Given the description of an element on the screen output the (x, y) to click on. 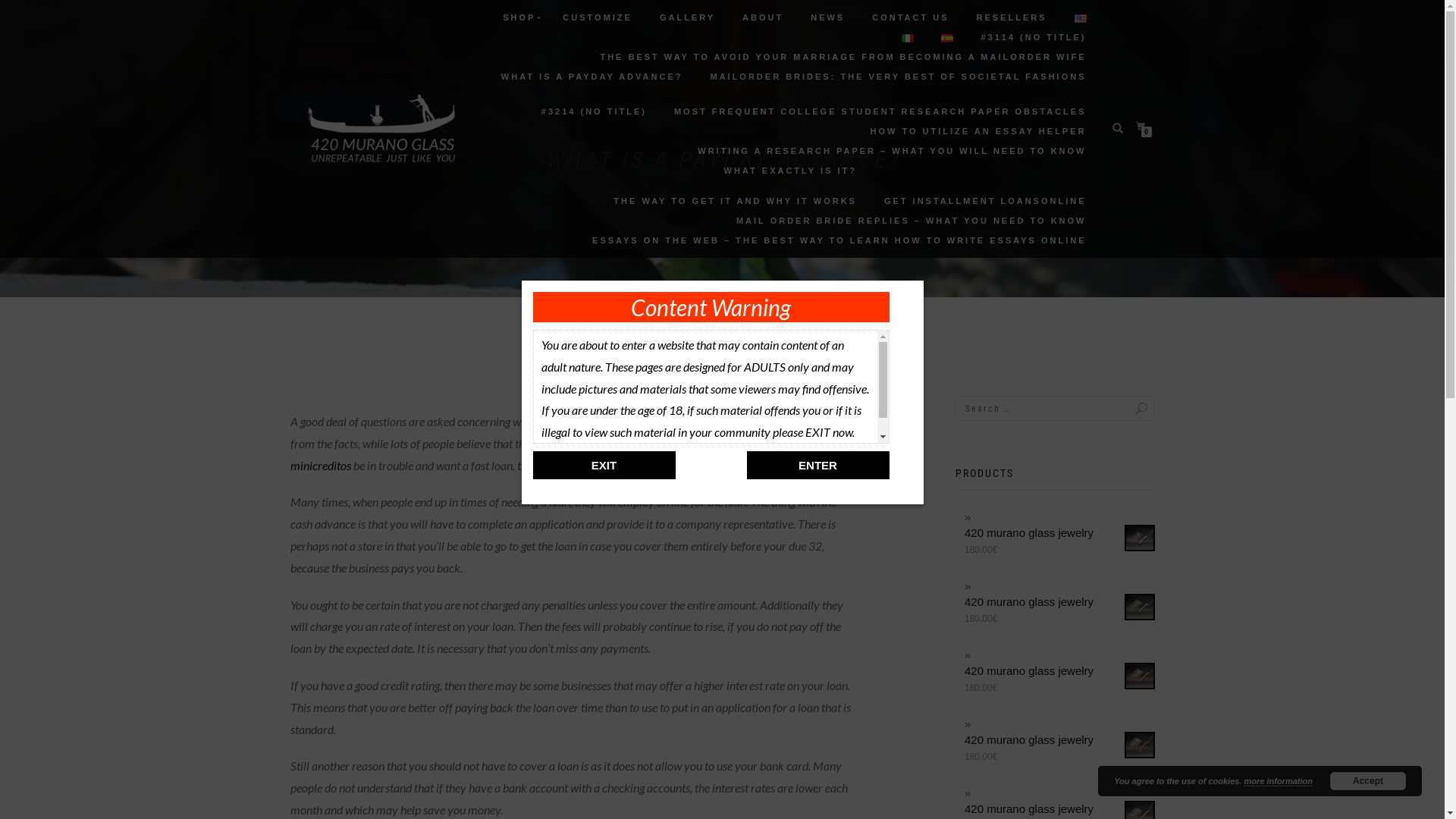
CONTACT US Element type: text (910, 17)
MOST FREQUENT COLLEGE STUDENT RESEARCH PAPER OBSTACLES Element type: text (880, 111)
EXIT Element type: text (603, 465)
Search Element type: text (1126, 407)
GALLERY Element type: text (687, 17)
CUSTOMIZE Element type: text (597, 17)
420 murano glass jewelry Element type: text (1059, 808)
ENTER Element type: text (817, 465)
HOW TO UTILIZE AN ESSAY HELPER Element type: text (978, 131)
WHAT EXACTLY IS IT?
THE WAY TO GET IT AND WHY IT WORKS Element type: text (735, 185)
ABOUT Element type: text (762, 17)
#3114 (NO TITLE) Element type: text (1033, 37)
420 murano glass jewelry Element type: text (1059, 532)
MAILORDER BRIDES: THE VERY BEST OF SOCIETAL FASHIONS Element type: text (897, 76)
#3214 (NO TITLE) Element type: text (594, 111)
pedir minicreditos Element type: text (566, 454)
GET INSTALLMENT LOANSONLINE Element type: text (985, 200)
SHOP Element type: text (518, 17)
WHAT IS A PAYDAY ADVANCE? Element type: text (591, 83)
Italiano (it_IT) Element type: hover (907, 38)
0 Element type: text (1143, 126)
420 murano glass jewelry Element type: text (1059, 601)
more information Element type: text (1277, 781)
420 murano glass jewelry Element type: text (1059, 739)
English (en_US) Element type: hover (1079, 18)
Accept Element type: text (1367, 780)
RESELLERS Element type: text (1010, 17)
420 murano glass jewelry Element type: text (1059, 670)
NEWS Element type: text (827, 17)
